Given the description of an element on the screen output the (x, y) to click on. 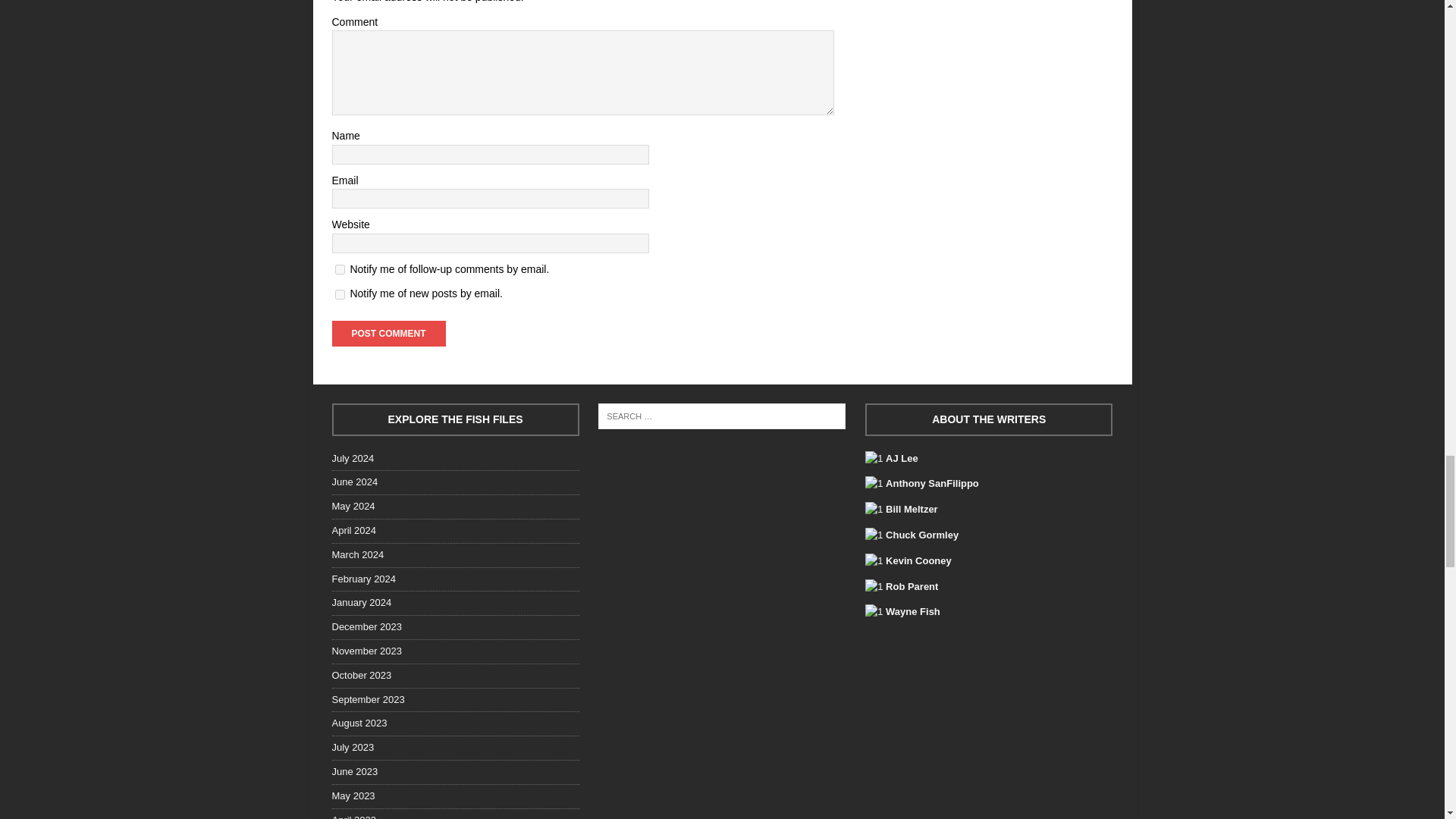
subscribe (339, 269)
subscribe (339, 294)
Post Comment (388, 333)
Post Comment (388, 333)
